Given the description of an element on the screen output the (x, y) to click on. 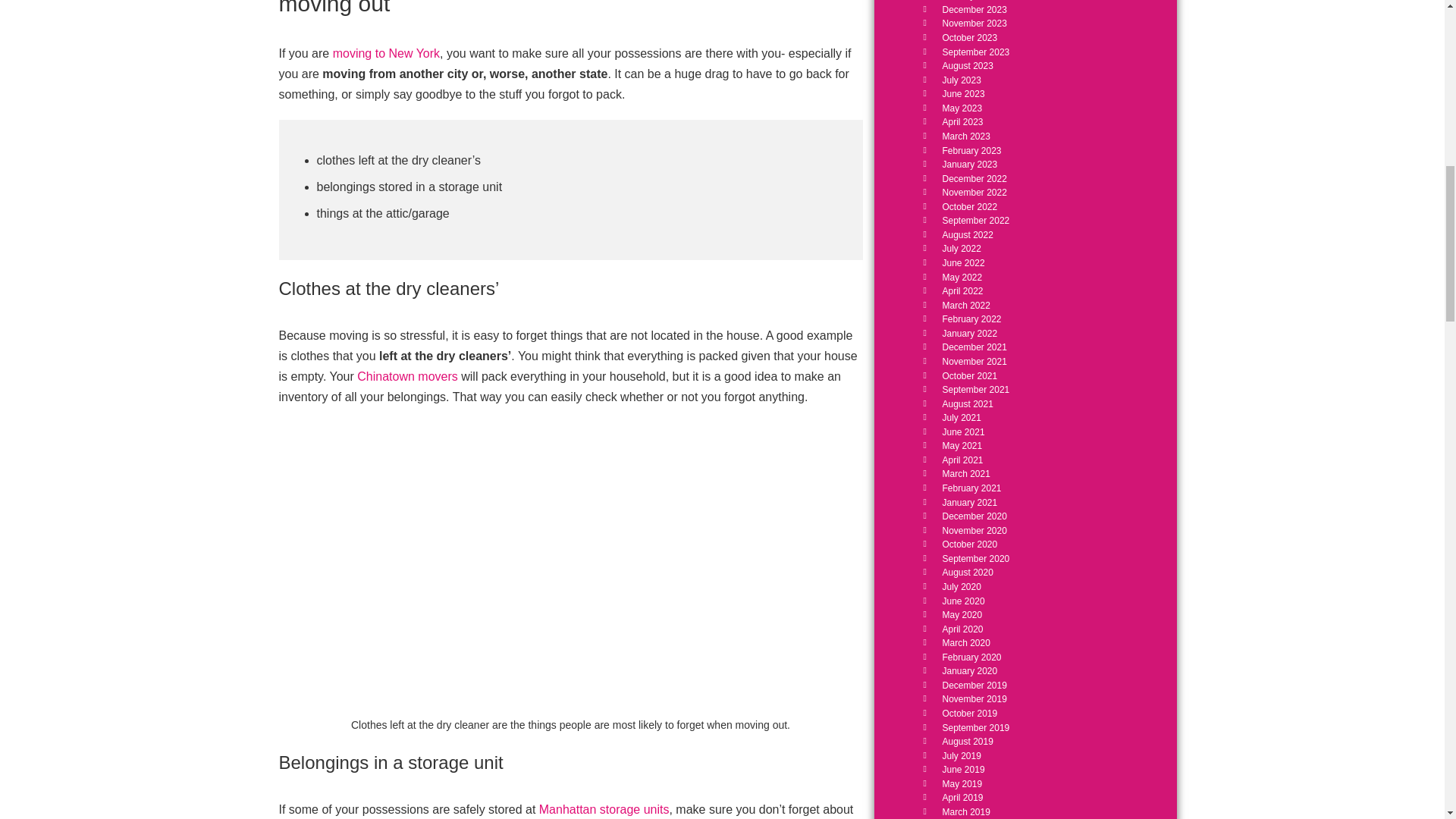
Chinatown movers (407, 376)
Manhattan storage units (603, 809)
moving to New York (386, 52)
January 2024 (969, 0)
